Given the description of an element on the screen output the (x, y) to click on. 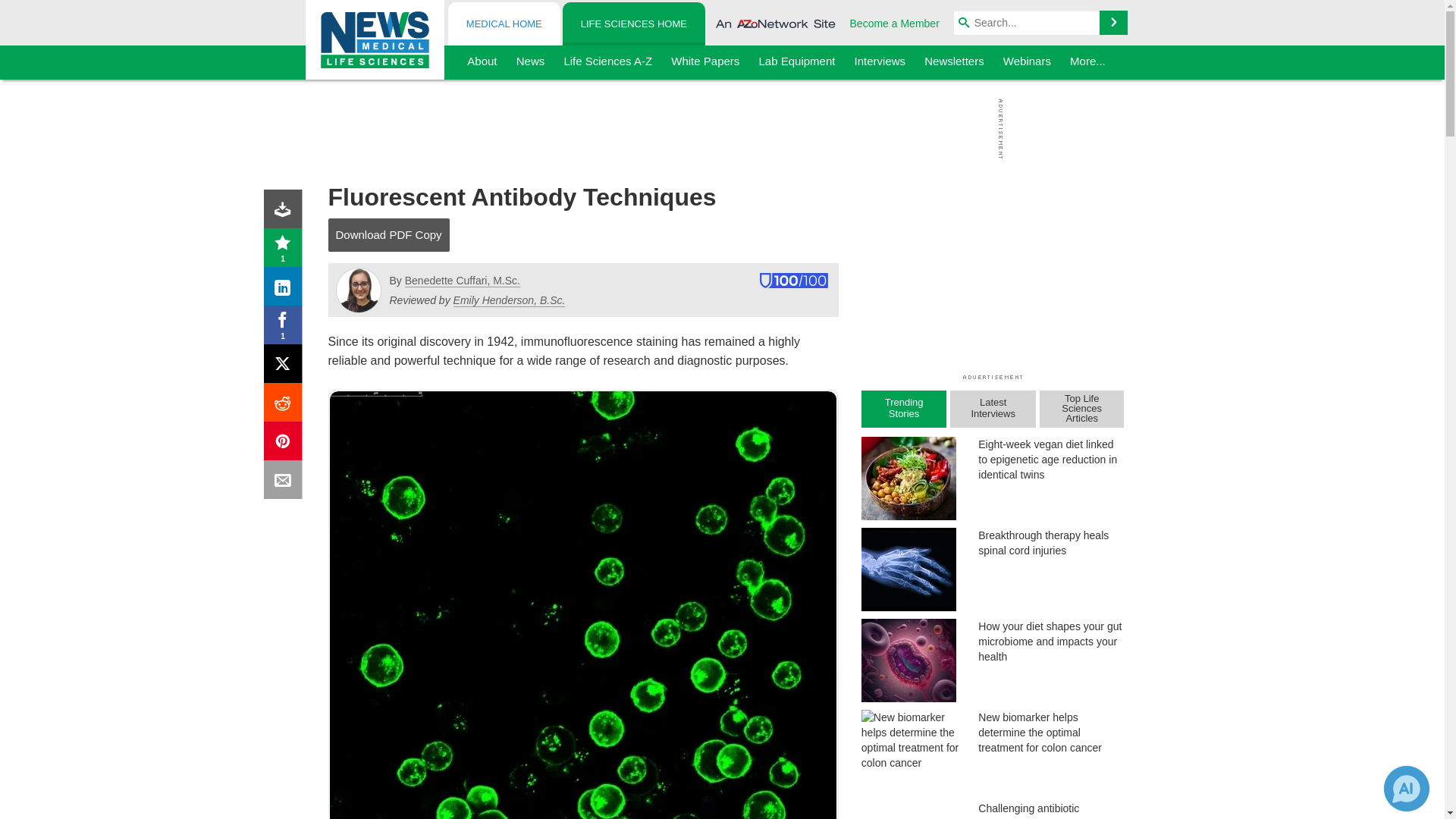
Download PDF copy (285, 212)
LIFE SCIENCES HOME (633, 23)
MEDICAL HOME (504, 23)
LinkedIn (285, 289)
Email (285, 483)
Rating (285, 250)
Search (1112, 22)
Facebook (285, 328)
X (285, 366)
Pinterest (285, 443)
Become a Member (894, 22)
Reddit (285, 405)
